Given the description of an element on the screen output the (x, y) to click on. 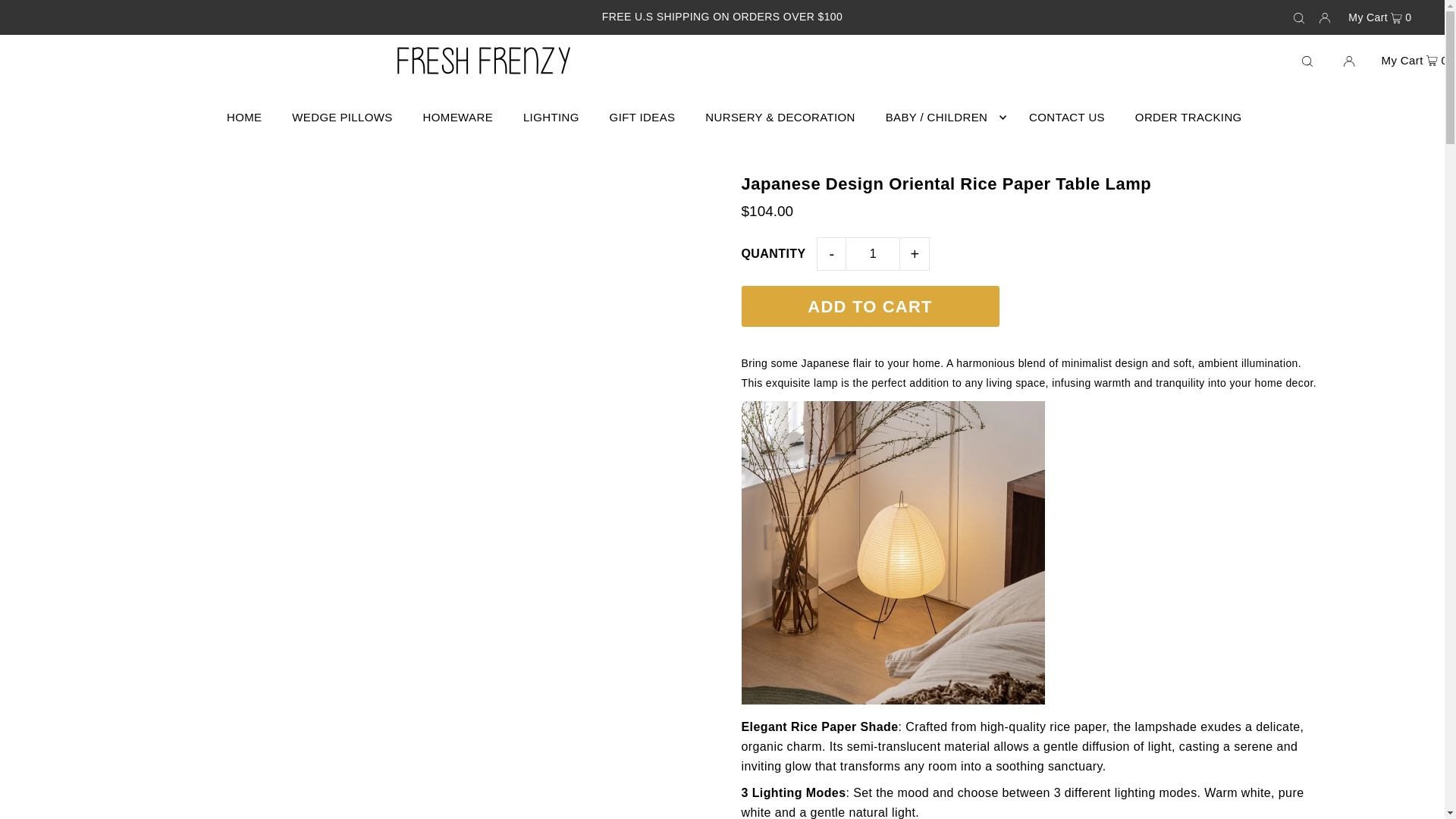
HOMEWARE (457, 117)
WEDGE PILLOWS (340, 117)
1 (872, 254)
GIFT IDEAS (642, 117)
LIGHTING (550, 117)
HOME (244, 117)
Add to Cart (869, 305)
